Given the description of an element on the screen output the (x, y) to click on. 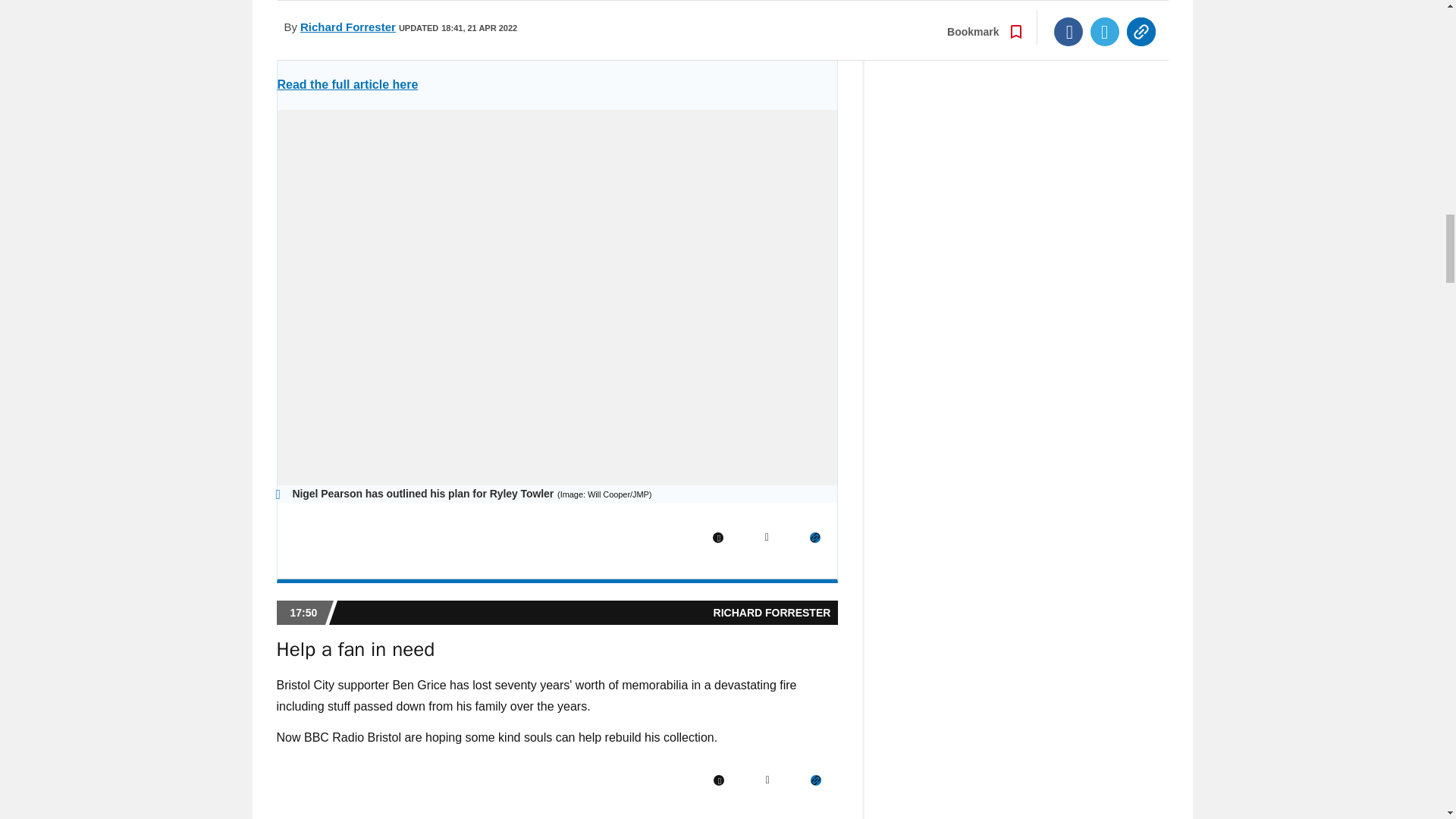
Facebook (718, 779)
Twitter (767, 779)
Twitter (766, 537)
Facebook (718, 537)
